Given the description of an element on the screen output the (x, y) to click on. 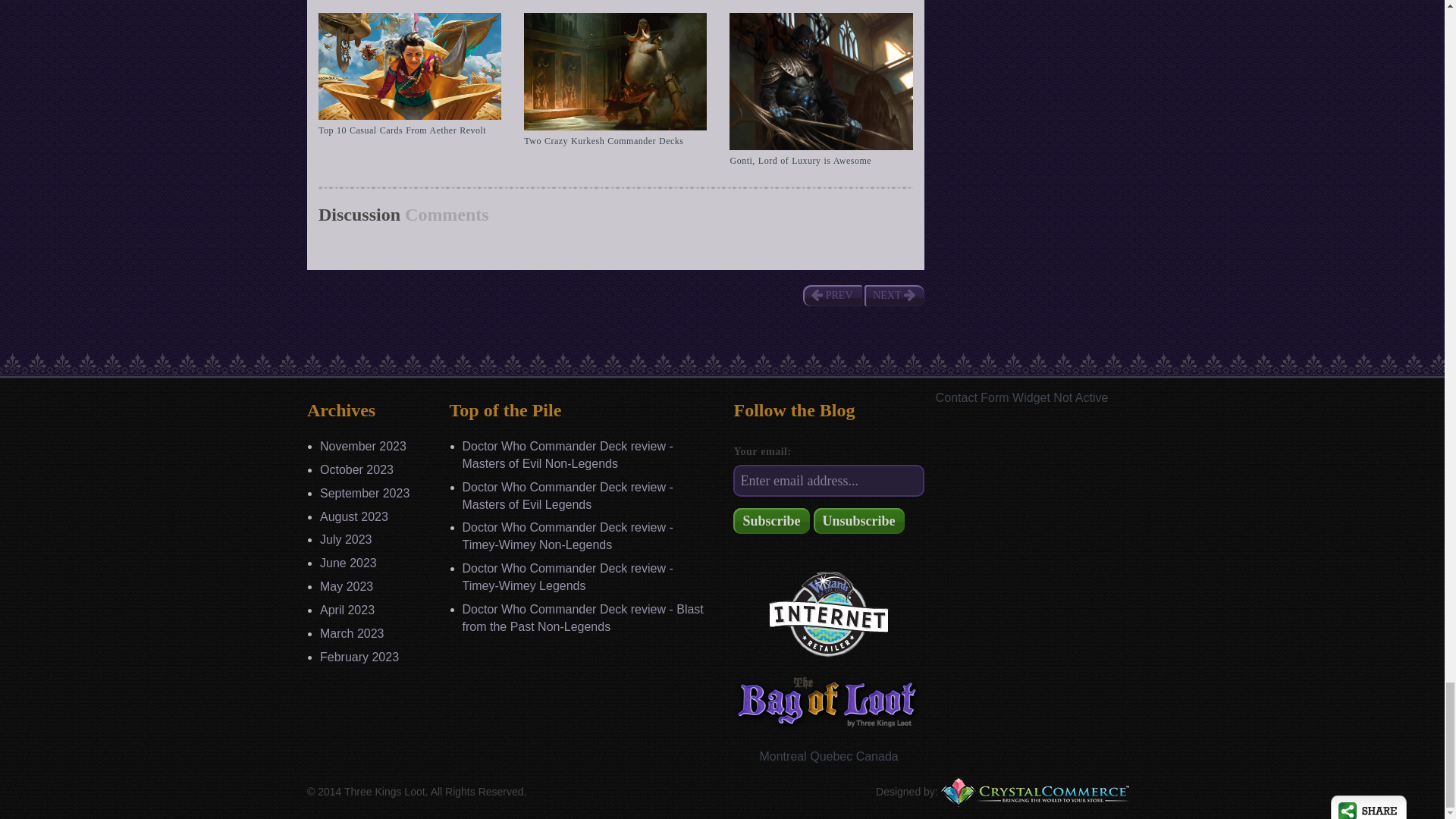
Subscribe (771, 520)
Unsubscribe (858, 520)
Enter email address... (828, 480)
